Given the description of an element on the screen output the (x, y) to click on. 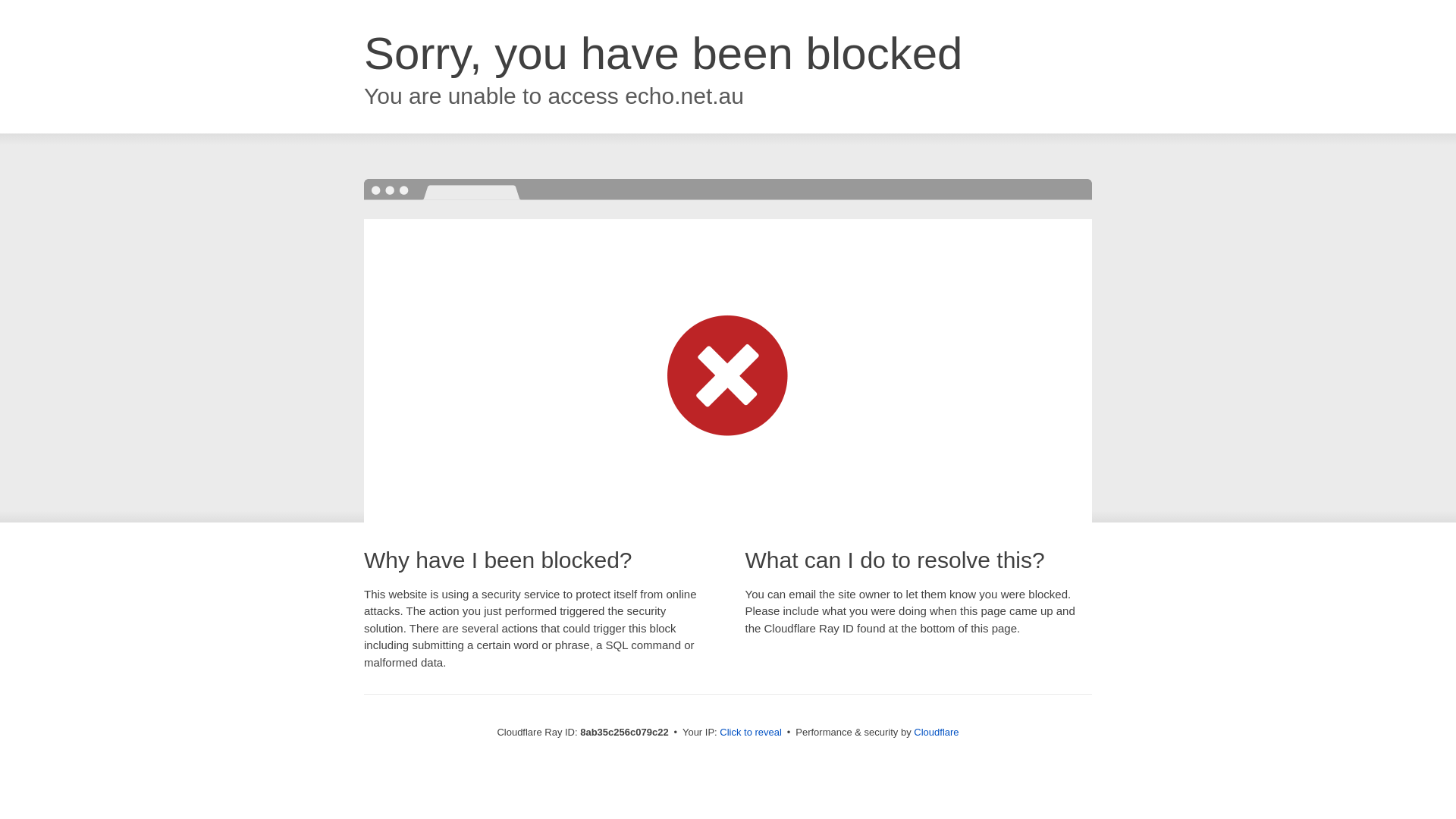
Click to reveal (750, 732)
Cloudflare (936, 731)
